Given the description of an element on the screen output the (x, y) to click on. 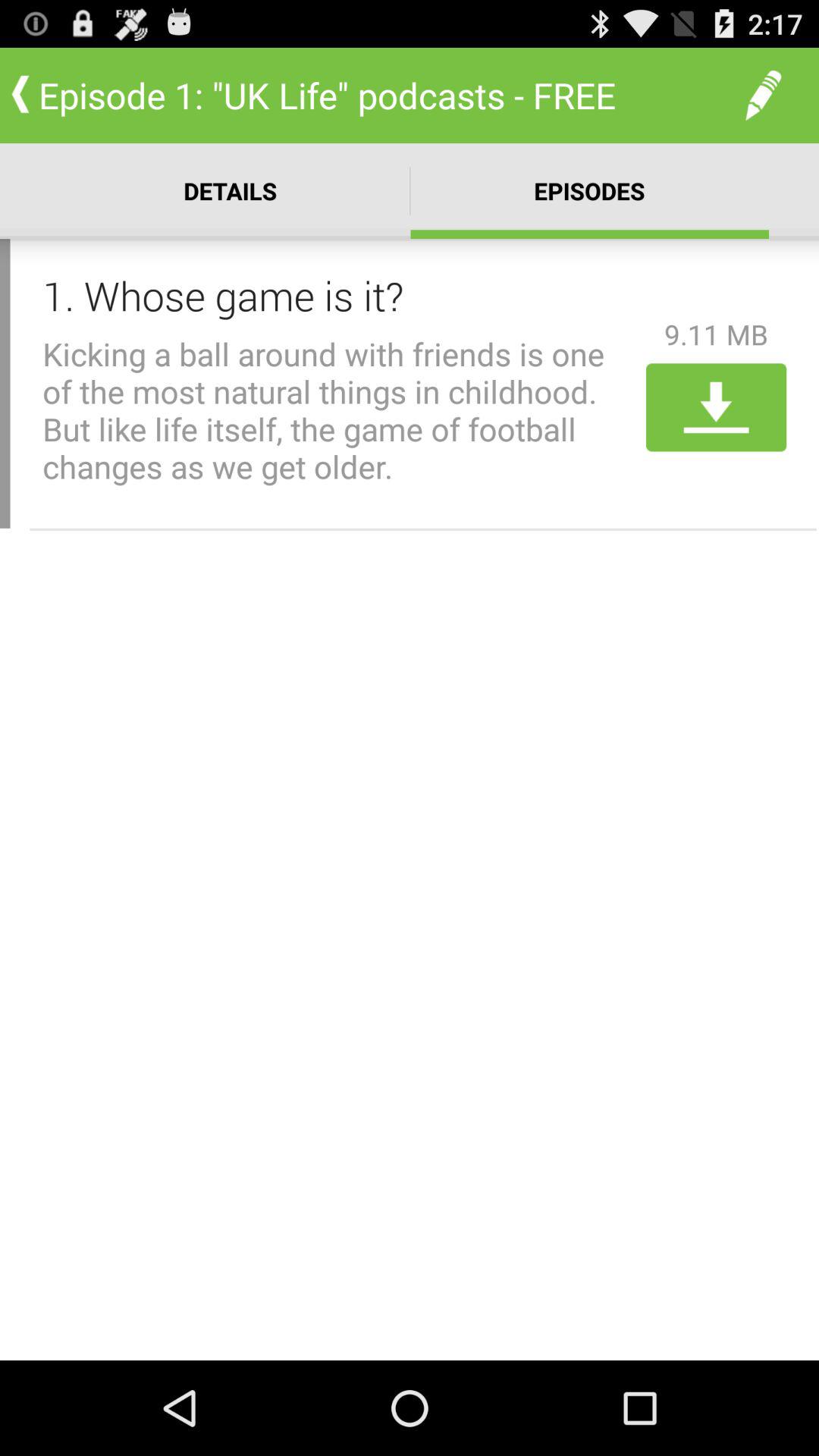
turn off icon to the left of the 9.11 mb item (338, 295)
